Given the description of an element on the screen output the (x, y) to click on. 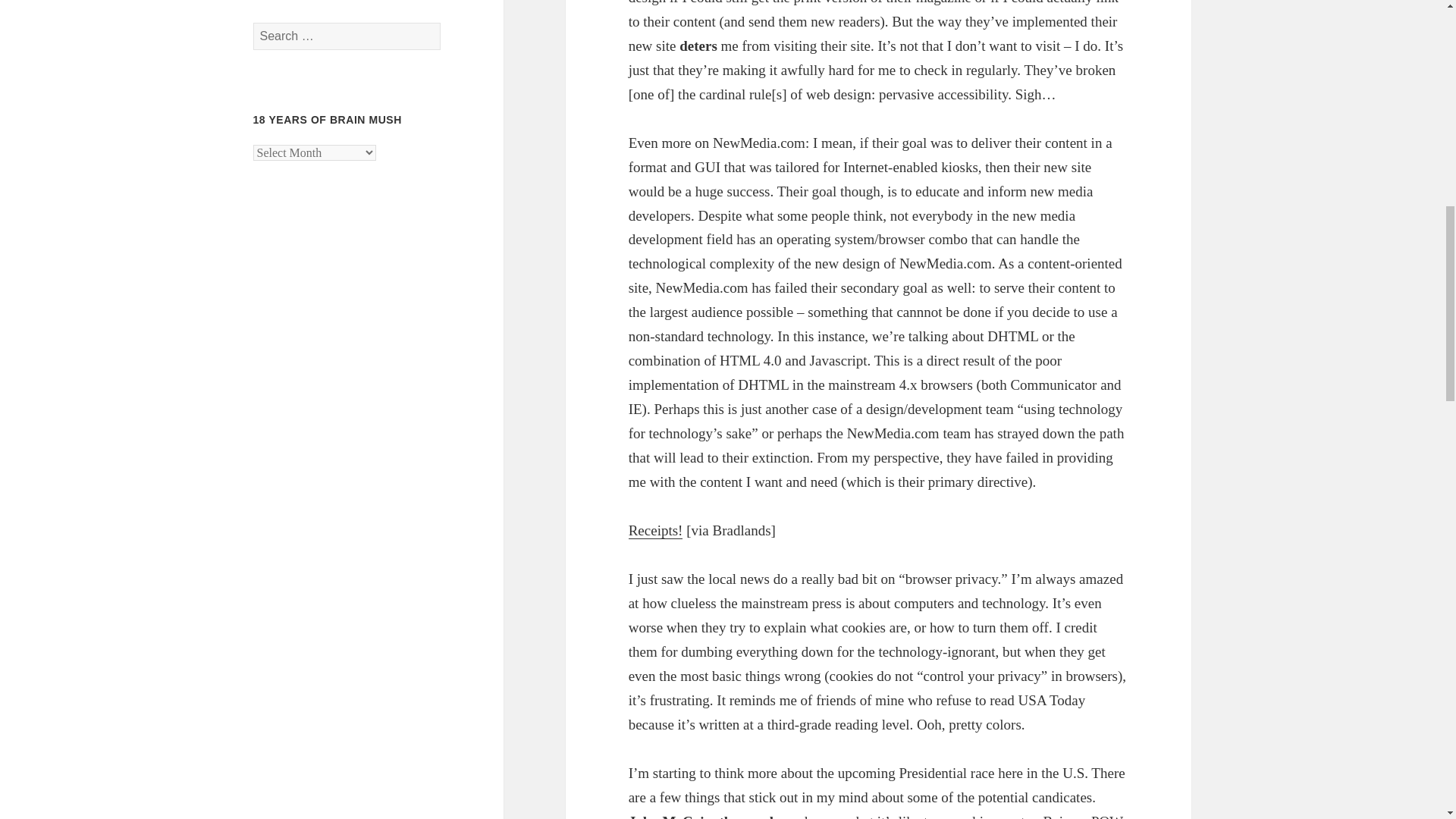
Receipts! (655, 530)
